Given the description of an element on the screen output the (x, y) to click on. 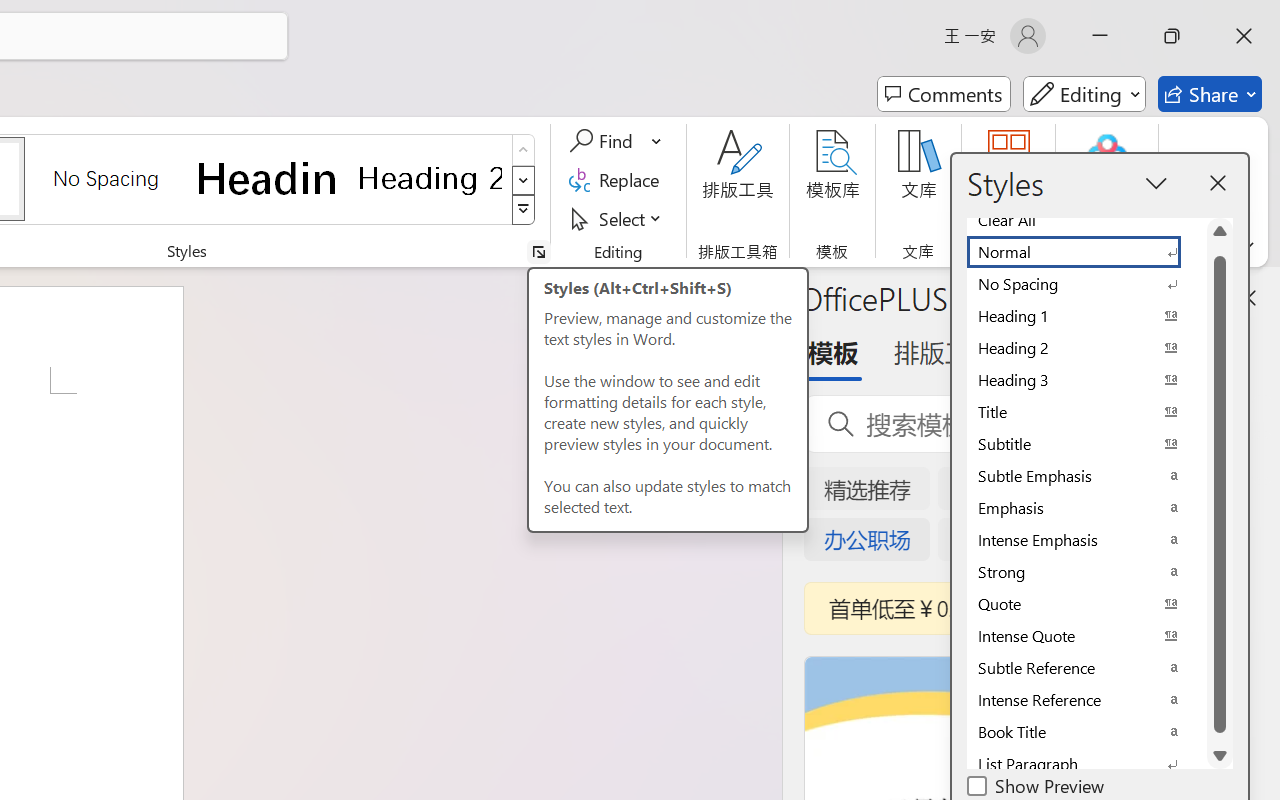
Row up (523, 150)
Select (618, 218)
Find (604, 141)
Title (1086, 412)
Normal (1086, 252)
